Given the description of an element on the screen output the (x, y) to click on. 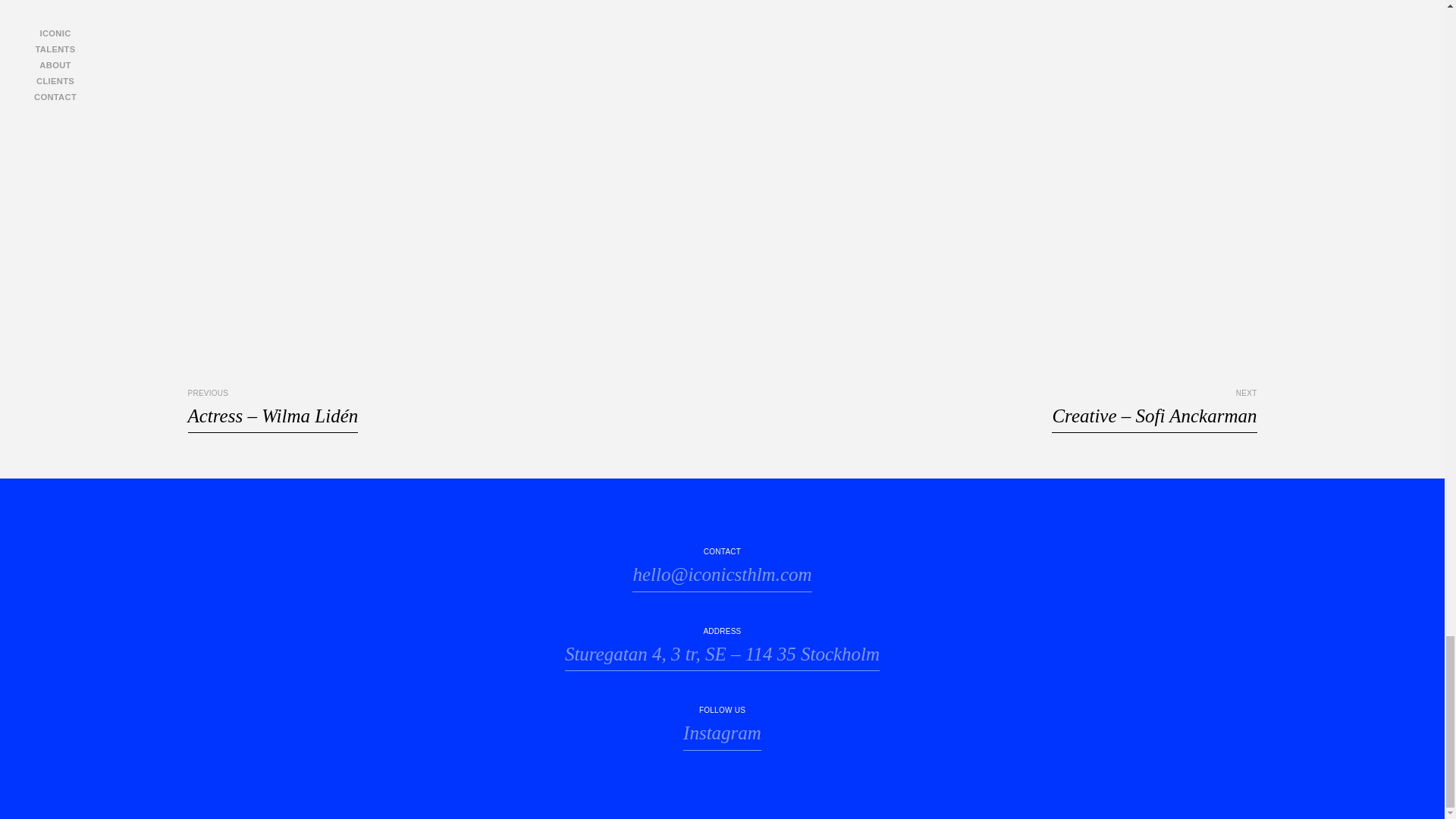
Instagram (721, 735)
